Given the description of an element on the screen output the (x, y) to click on. 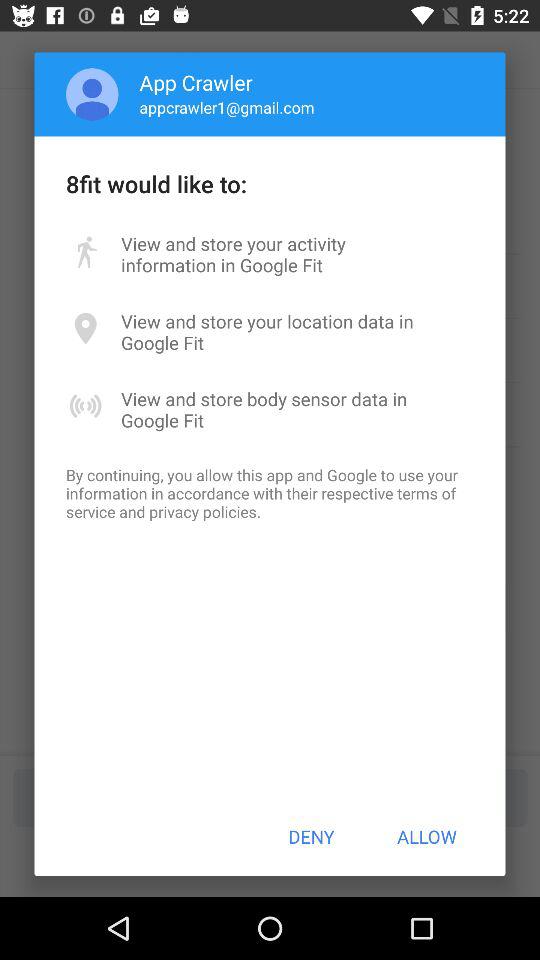
press the item below the by continuing you item (311, 836)
